Given the description of an element on the screen output the (x, y) to click on. 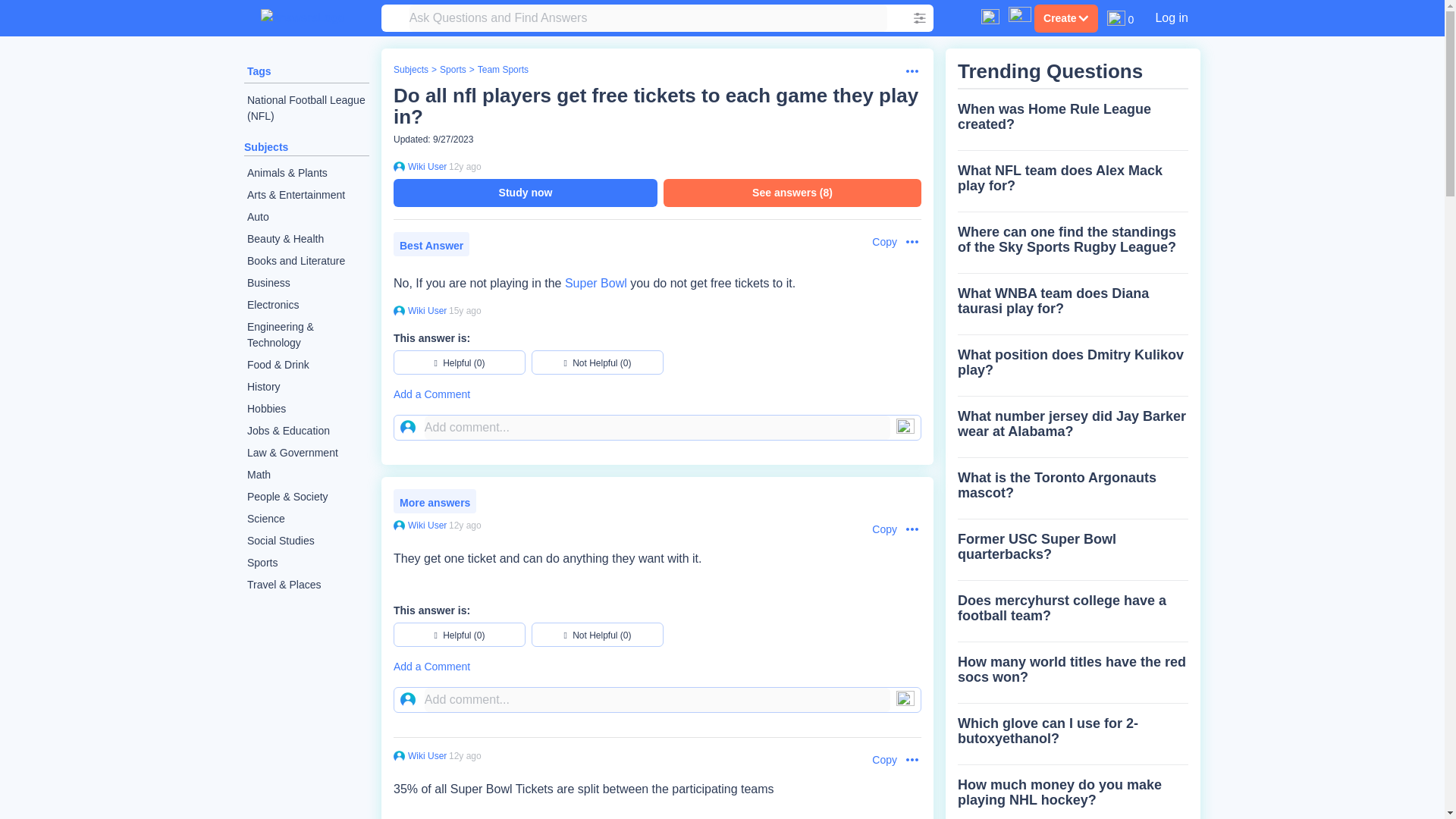
Hobbies (306, 409)
Sports (306, 563)
Tags (258, 70)
Books and Literature (306, 260)
Business (306, 282)
Copy (876, 242)
Create (1065, 18)
Wiki User (425, 166)
Electronics (306, 305)
History (306, 386)
